Given the description of an element on the screen output the (x, y) to click on. 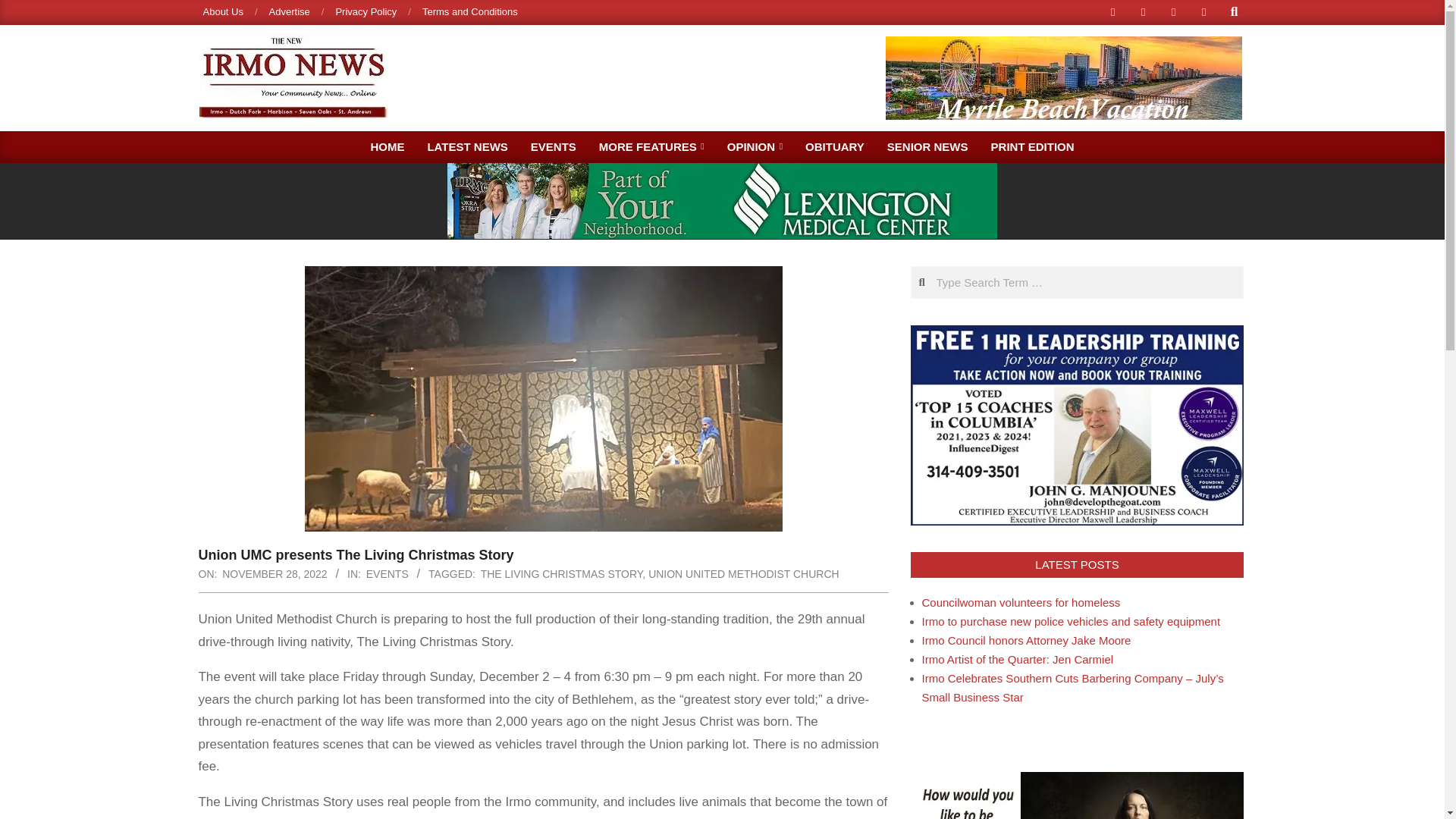
THE LIVING CHRISTMAS STORY (561, 573)
HOME (386, 146)
LATEST NEWS (466, 146)
SENIOR NEWS (927, 146)
EVENTS (553, 146)
OBITUARY (834, 146)
EVENTS (387, 573)
Terms and Conditions (470, 11)
OPINION (754, 146)
MORE FEATURES (652, 146)
PRINT EDITION (1032, 146)
UNION UNITED METHODIST CHURCH (742, 573)
Monday, November 28, 2022, 8:53 pm (274, 573)
Search (24, 9)
Privacy Policy (365, 11)
